Given the description of an element on the screen output the (x, y) to click on. 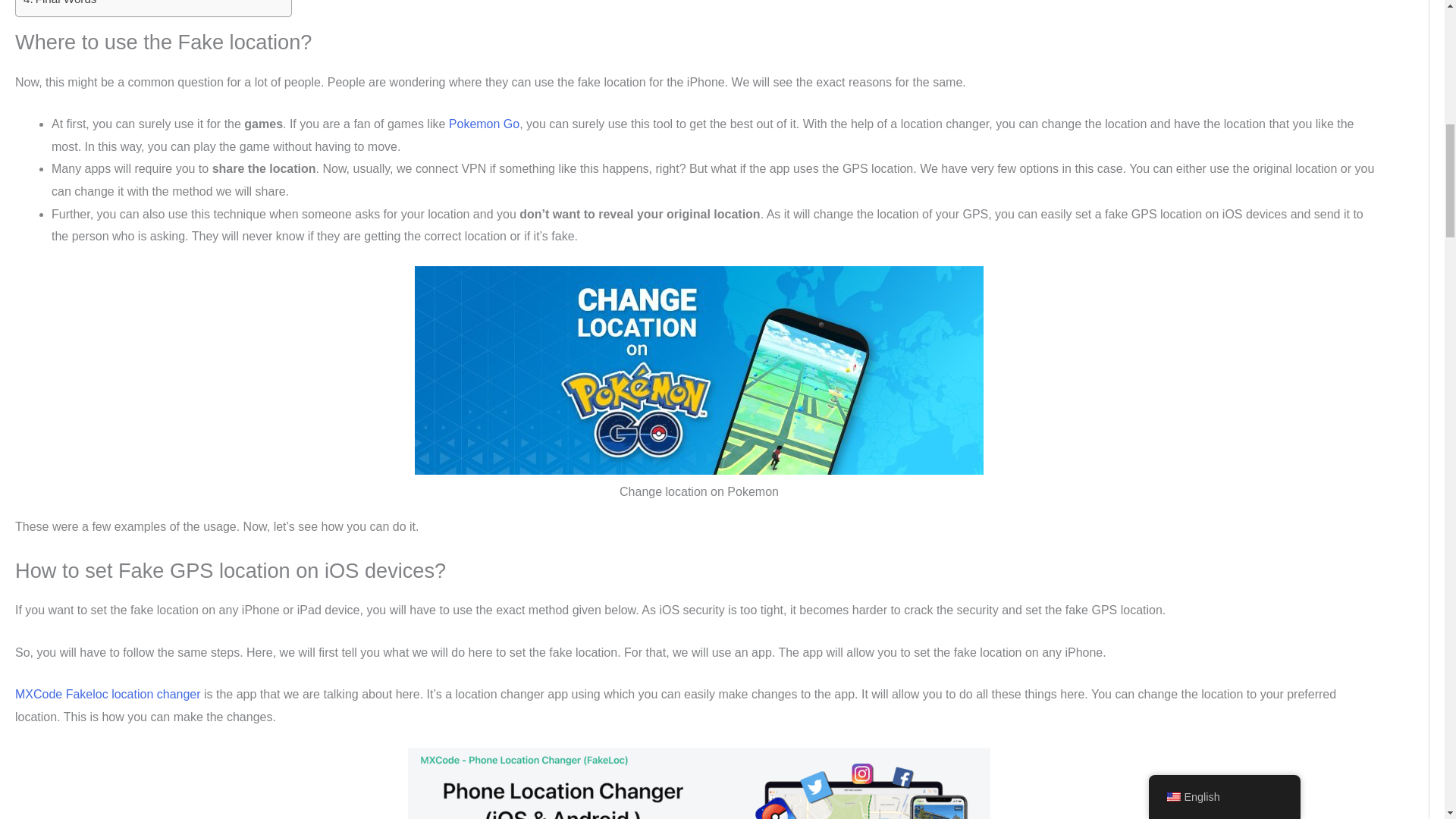
Pokemon Go (483, 123)
Final Words (59, 4)
Final Words (59, 4)
